Given the description of an element on the screen output the (x, y) to click on. 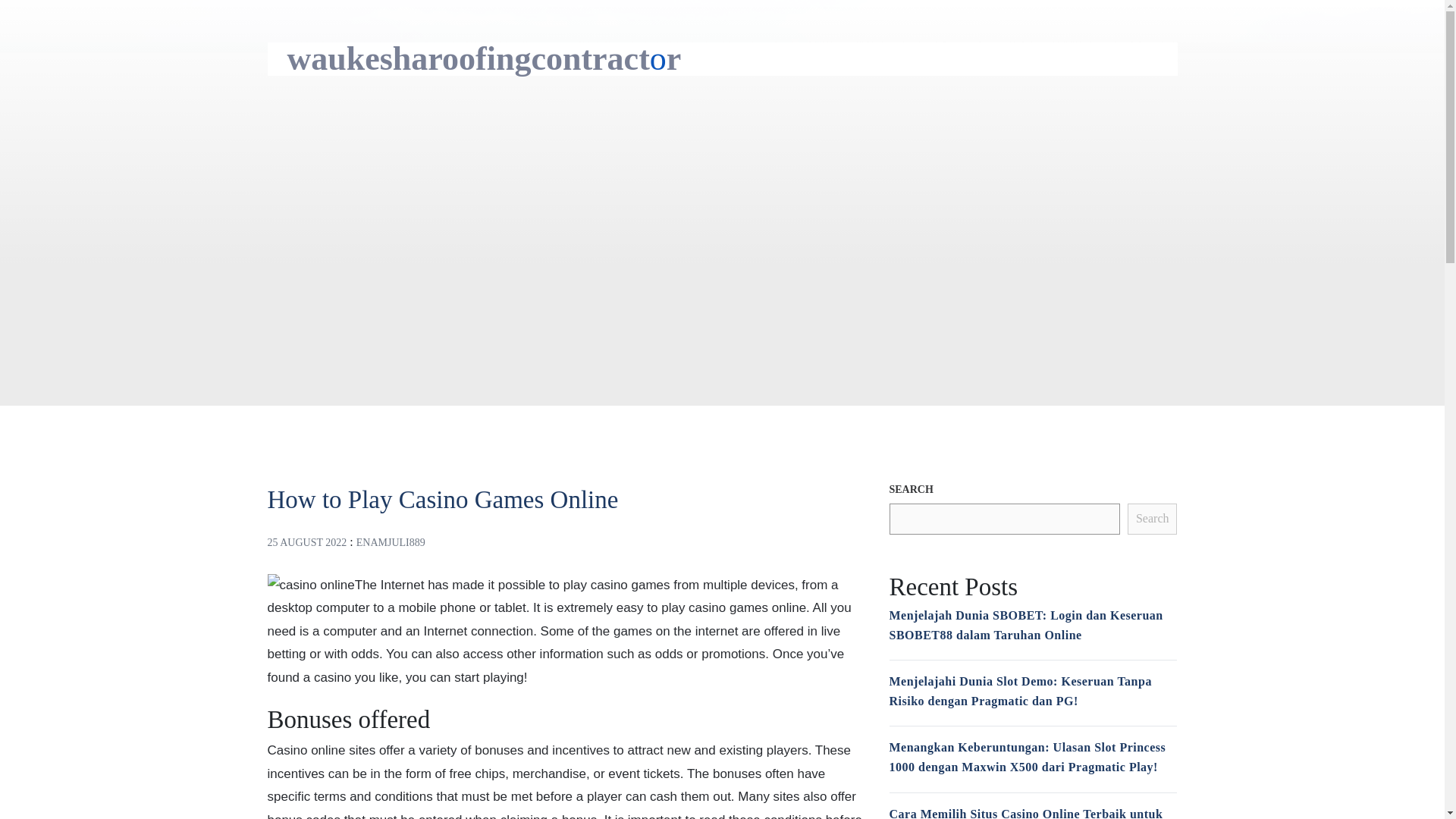
waukesharoofingcontractor (483, 58)
ENAMJULI889 (390, 542)
Search (1151, 518)
25 AUGUST 2022 (306, 542)
